Given the description of an element on the screen output the (x, y) to click on. 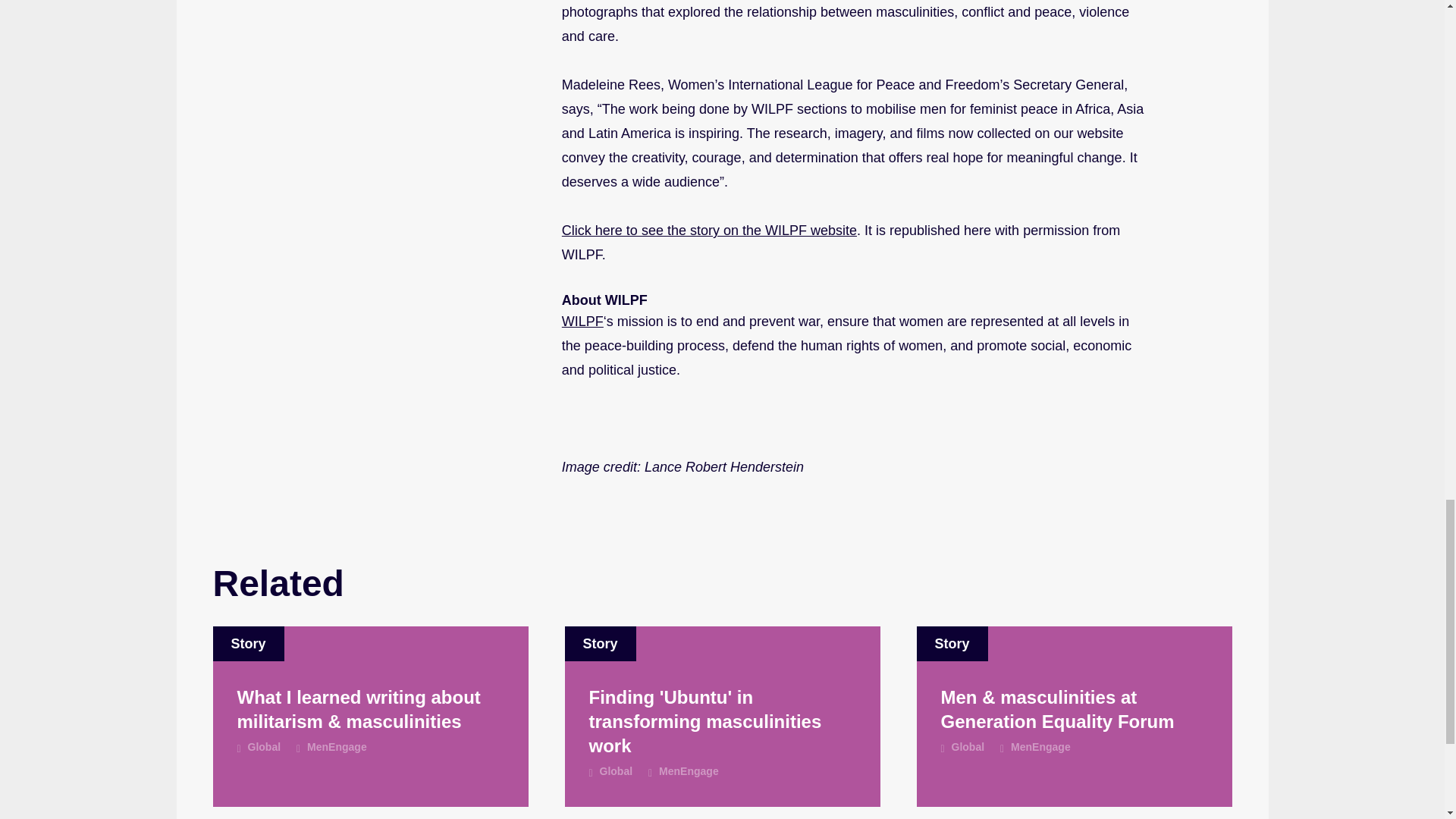
Finding 'Ubuntu' in transforming masculinities work (722, 721)
WILPF (583, 321)
Click here to see the story on the WILPF website (709, 230)
